Given the description of an element on the screen output the (x, y) to click on. 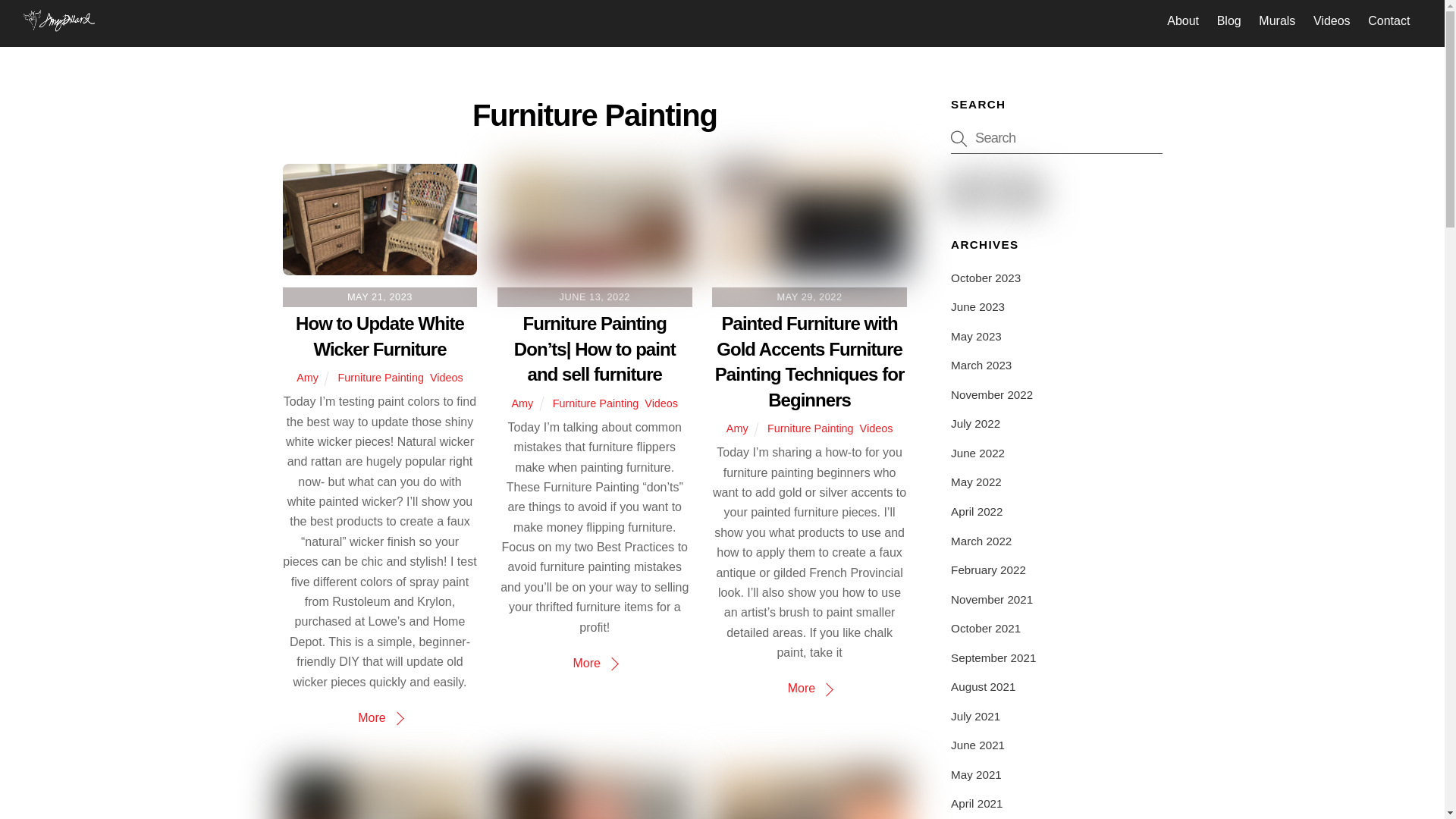
Amy (307, 377)
may 01 2022 (595, 793)
Amy (521, 403)
Amy Dillard (59, 24)
May 21 2023 (379, 218)
Blog (1228, 21)
Furniture Painting (596, 403)
Videos (1331, 21)
Amy (737, 428)
